Given the description of an element on the screen output the (x, y) to click on. 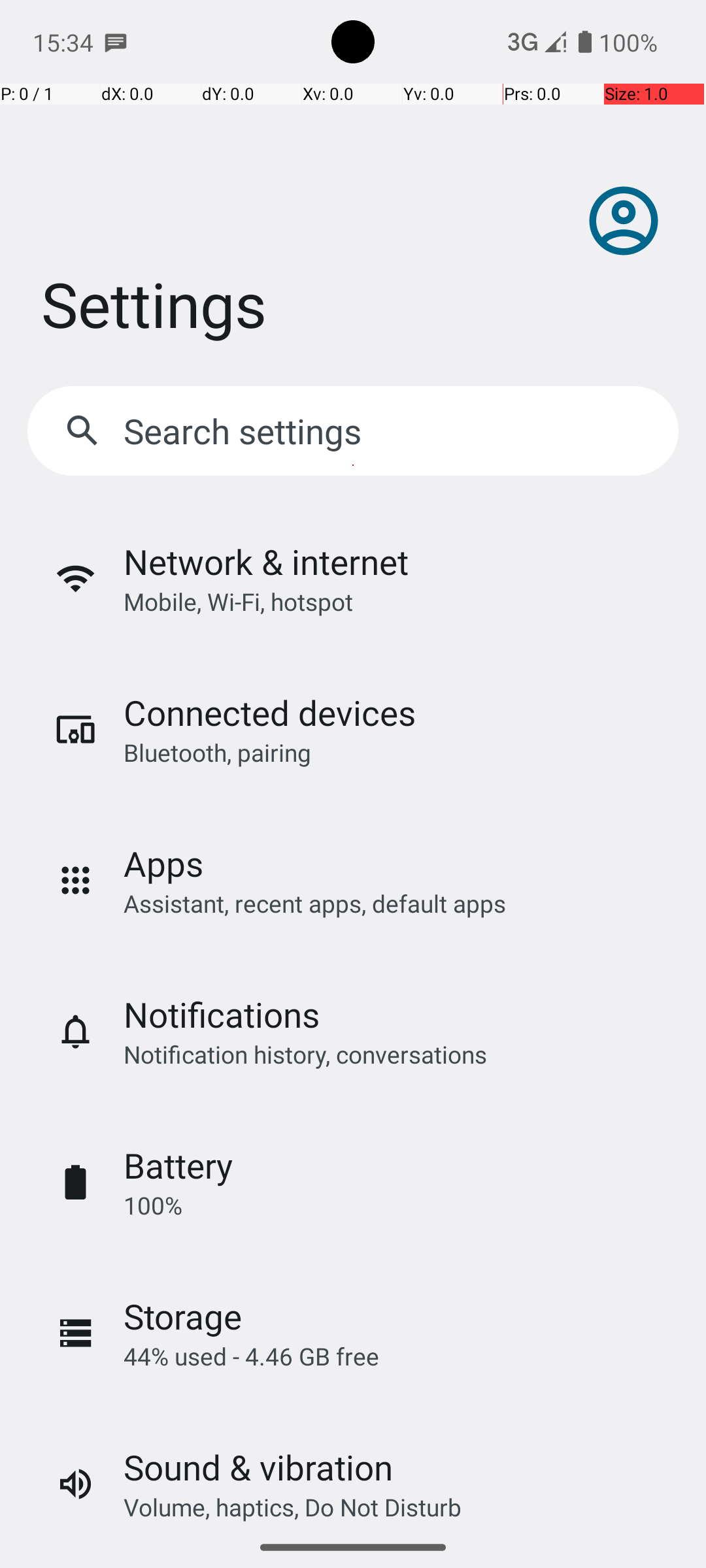
44% used - 4.46 GB free Element type: android.widget.TextView (251, 1355)
